Given the description of an element on the screen output the (x, y) to click on. 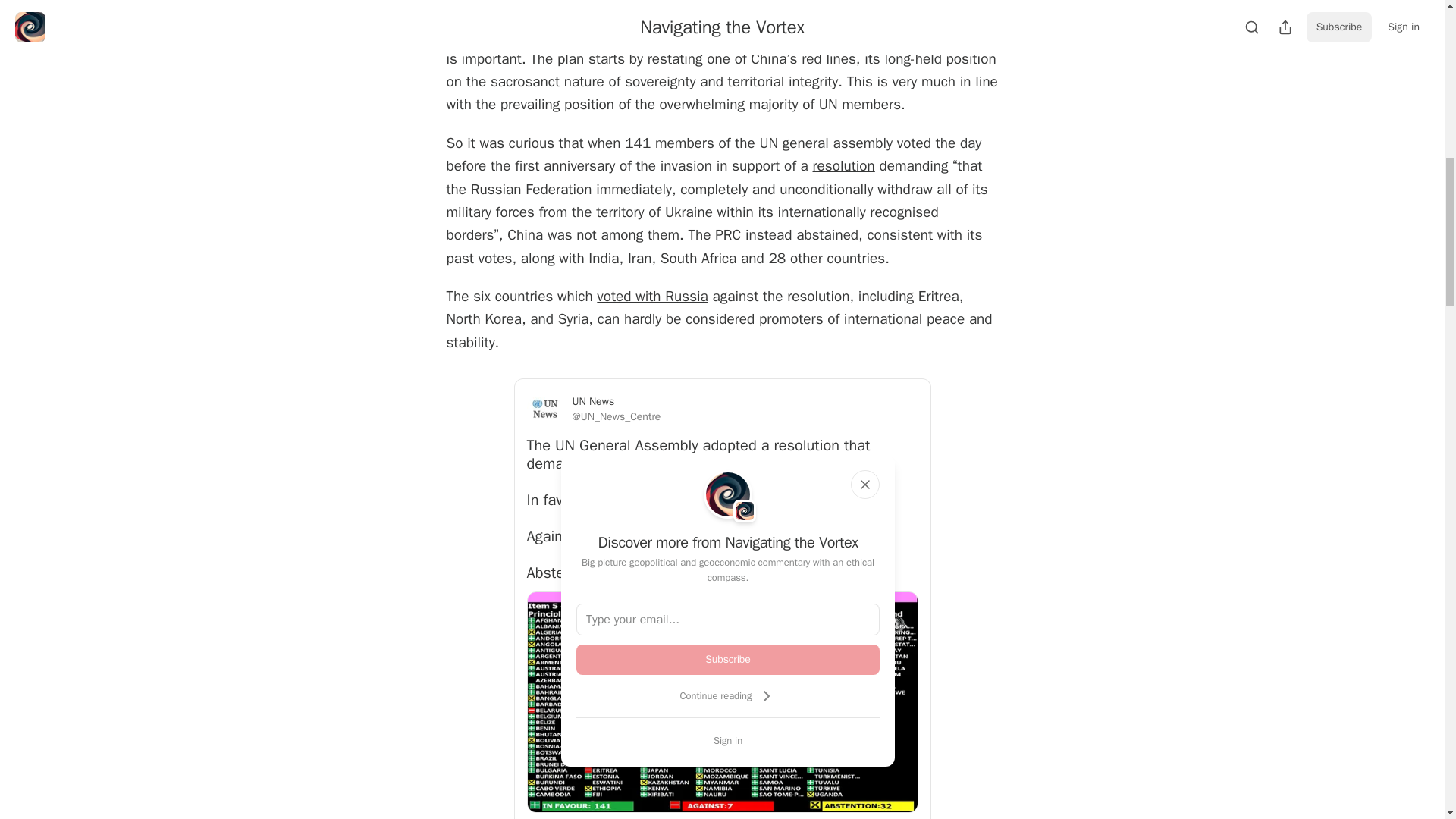
Subscribe (727, 659)
resolution (843, 166)
voted with Russia (651, 296)
Sign in (727, 739)
